Given the description of an element on the screen output the (x, y) to click on. 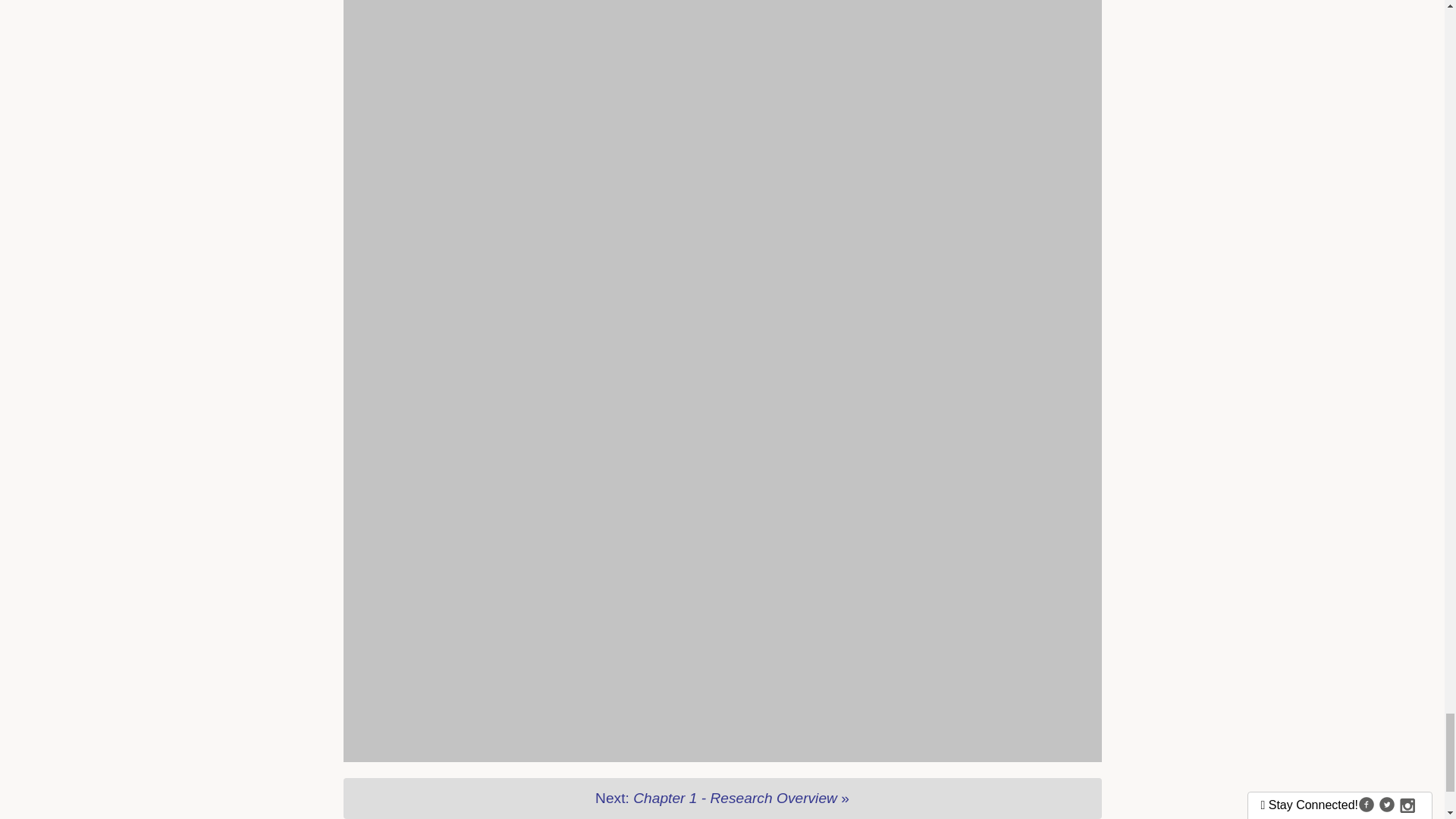
Next Chapter (721, 798)
